Given the description of an element on the screen output the (x, y) to click on. 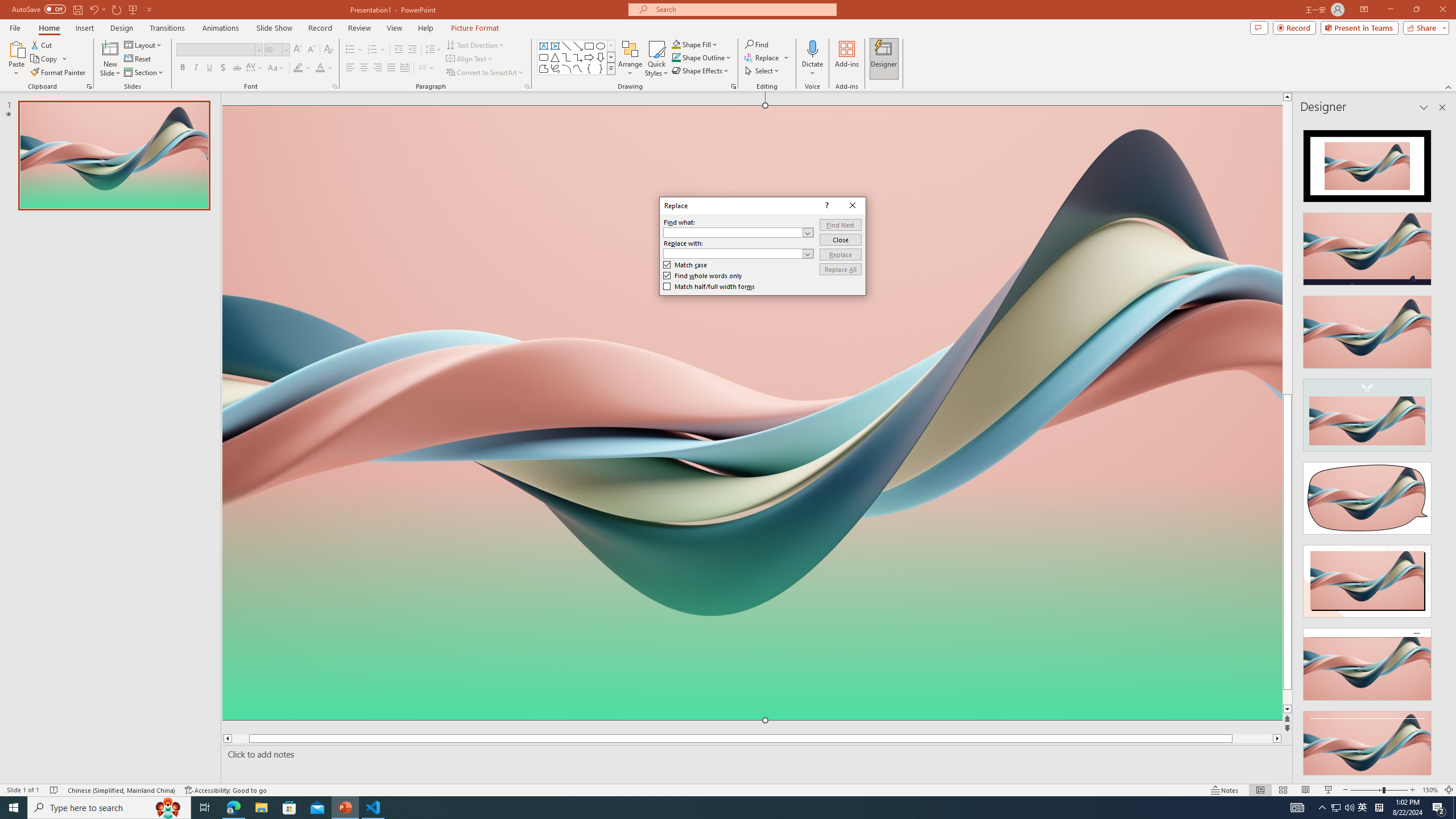
Context help (826, 205)
Match half/full width forms (708, 286)
